Given the description of an element on the screen output the (x, y) to click on. 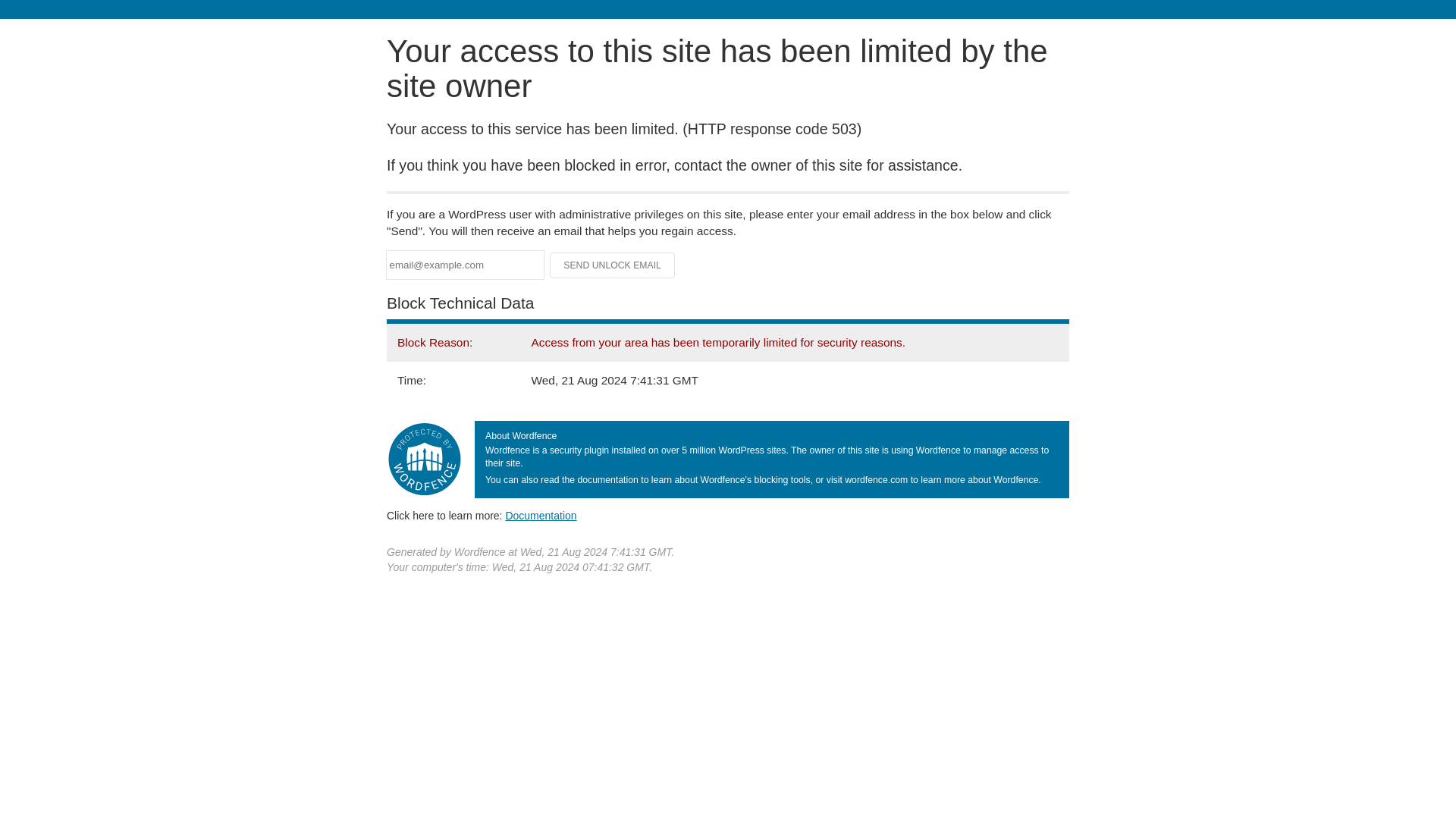
Send Unlock Email (612, 265)
Documentation (540, 515)
Send Unlock Email (612, 265)
